Given the description of an element on the screen output the (x, y) to click on. 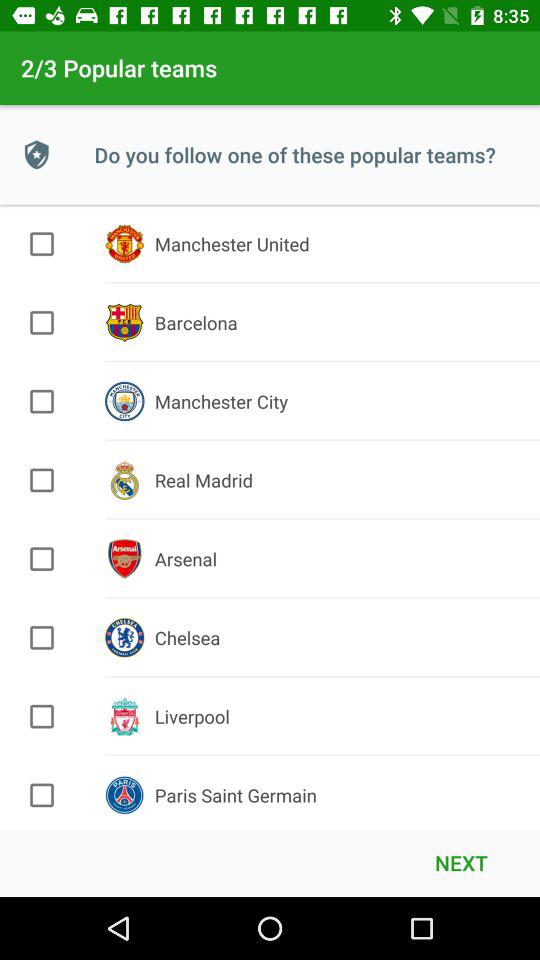
click the icon next to paris saint germain item (461, 862)
